Given the description of an element on the screen output the (x, y) to click on. 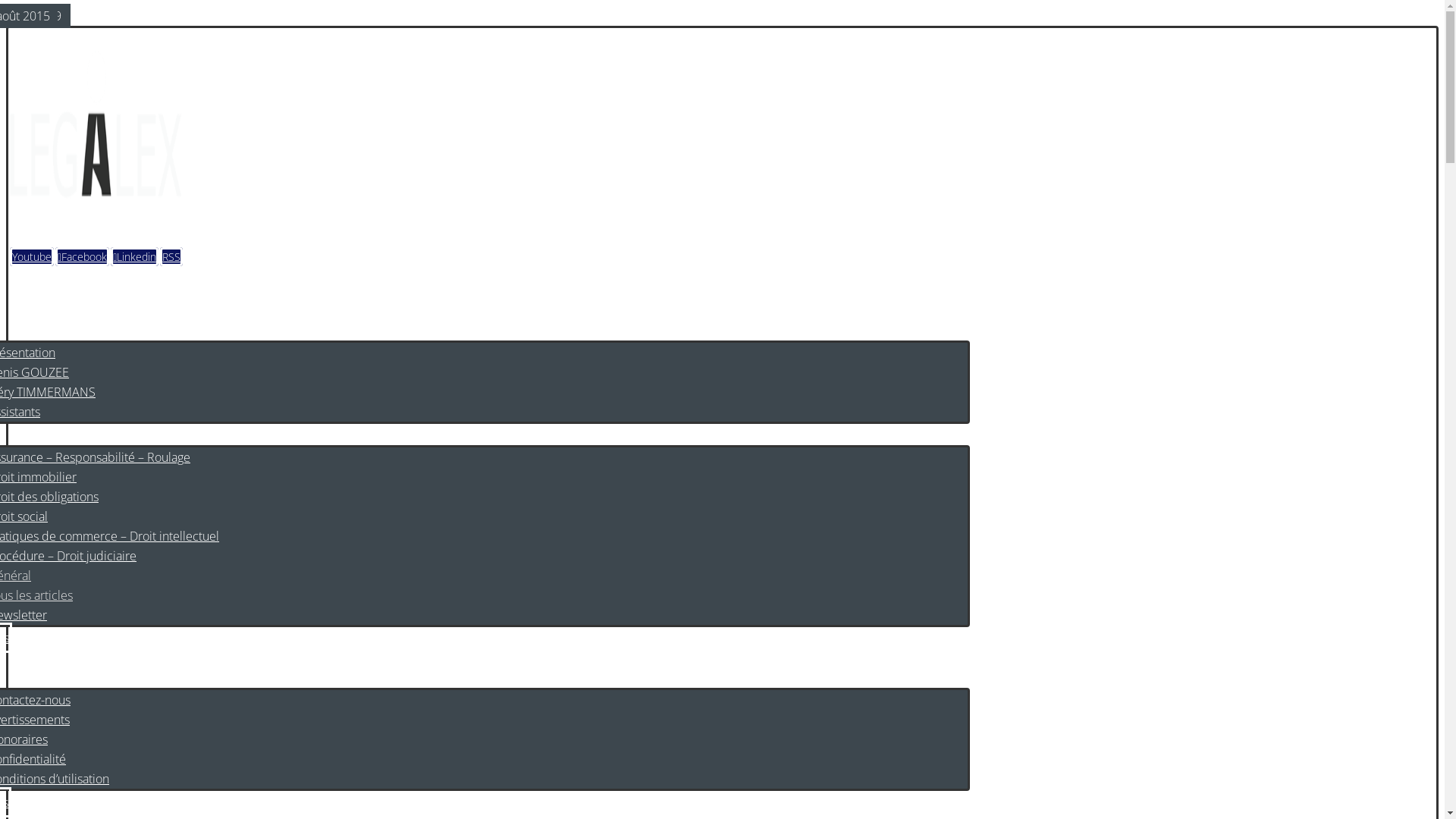
Facebook Element type: text (82, 256)
RSS Element type: text (171, 256)
Linkedin Element type: text (134, 256)
Youtube Element type: text (31, 256)
